Given the description of an element on the screen output the (x, y) to click on. 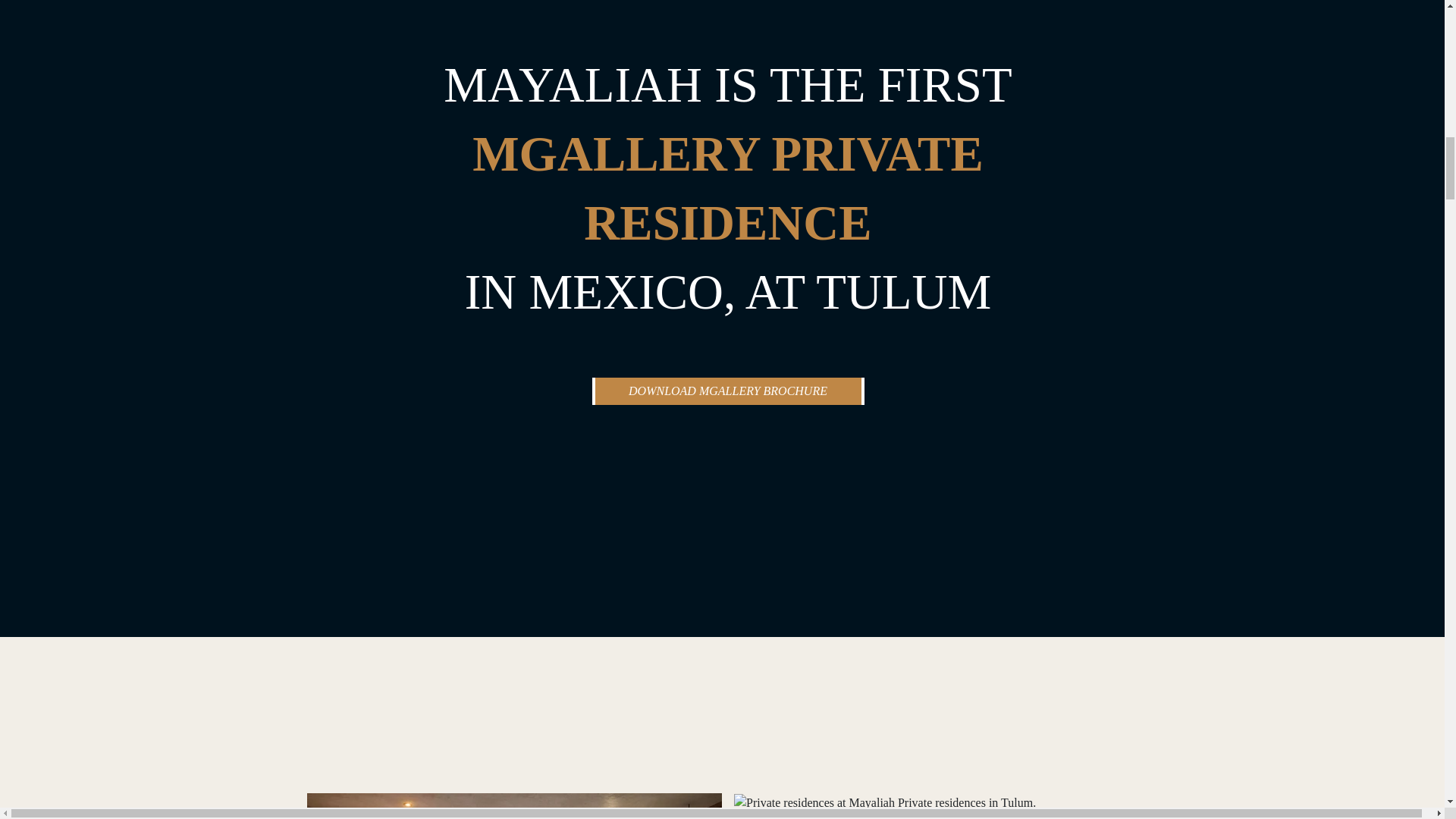
DOWNLOAD MGALLERY BROCHURE (727, 390)
Mayaliah Tulum Residences by MGallery. (514, 806)
